Given the description of an element on the screen output the (x, y) to click on. 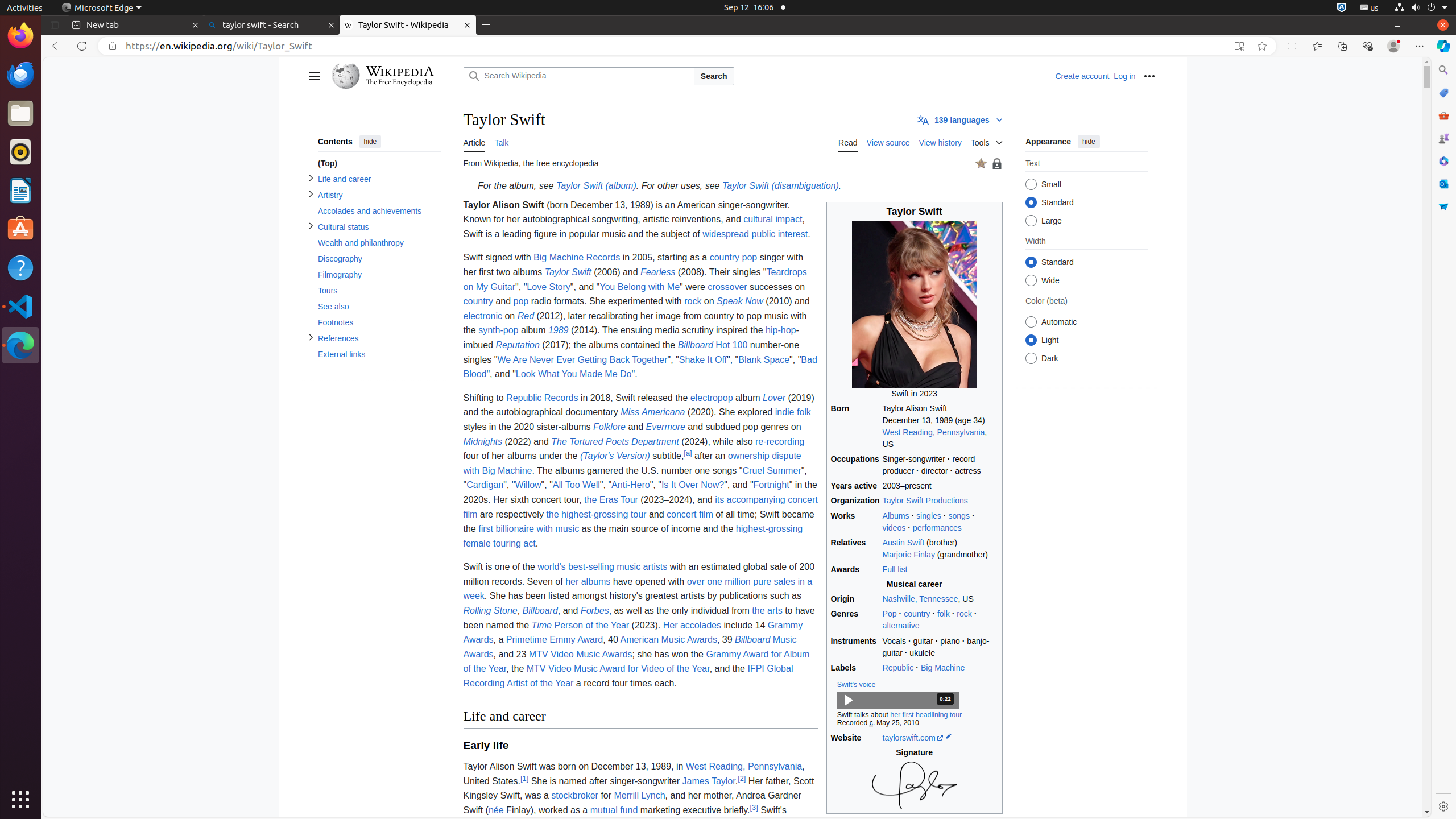
James Taylor Element type: link (708, 780)
References Element type: link (378, 338)
Billboard Music Awards Element type: link (629, 646)
videos Element type: link (894, 527)
External links Element type: link (378, 354)
